Given the description of an element on the screen output the (x, y) to click on. 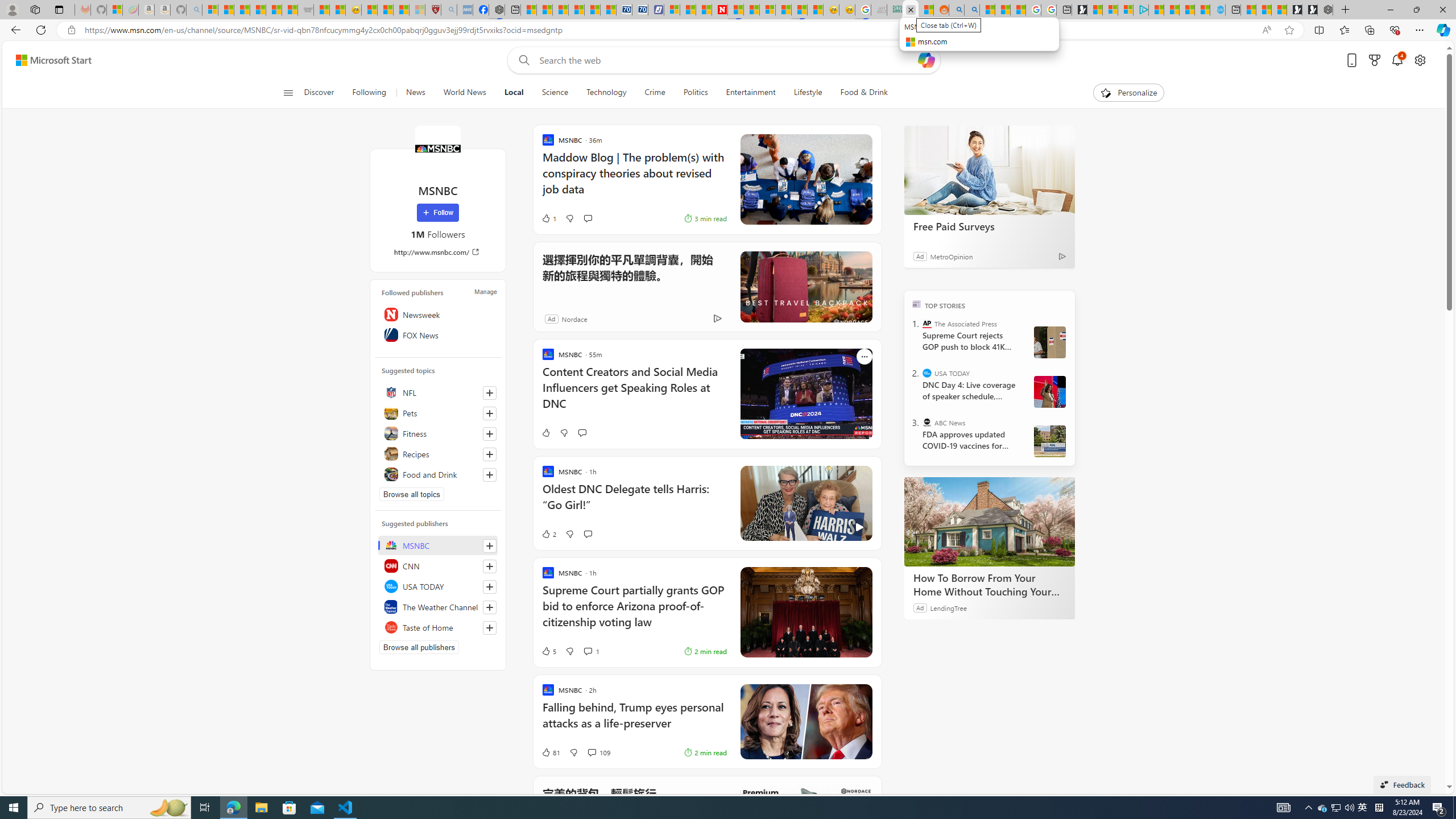
Browse all topics (412, 494)
Open navigation menu (287, 92)
Crime (654, 92)
New Report Confirms 2023 Was Record Hot | Watch (273, 9)
Robert H. Shmerling, MD - Harvard Health (432, 9)
Follow this topic (489, 474)
